Given the description of an element on the screen output the (x, y) to click on. 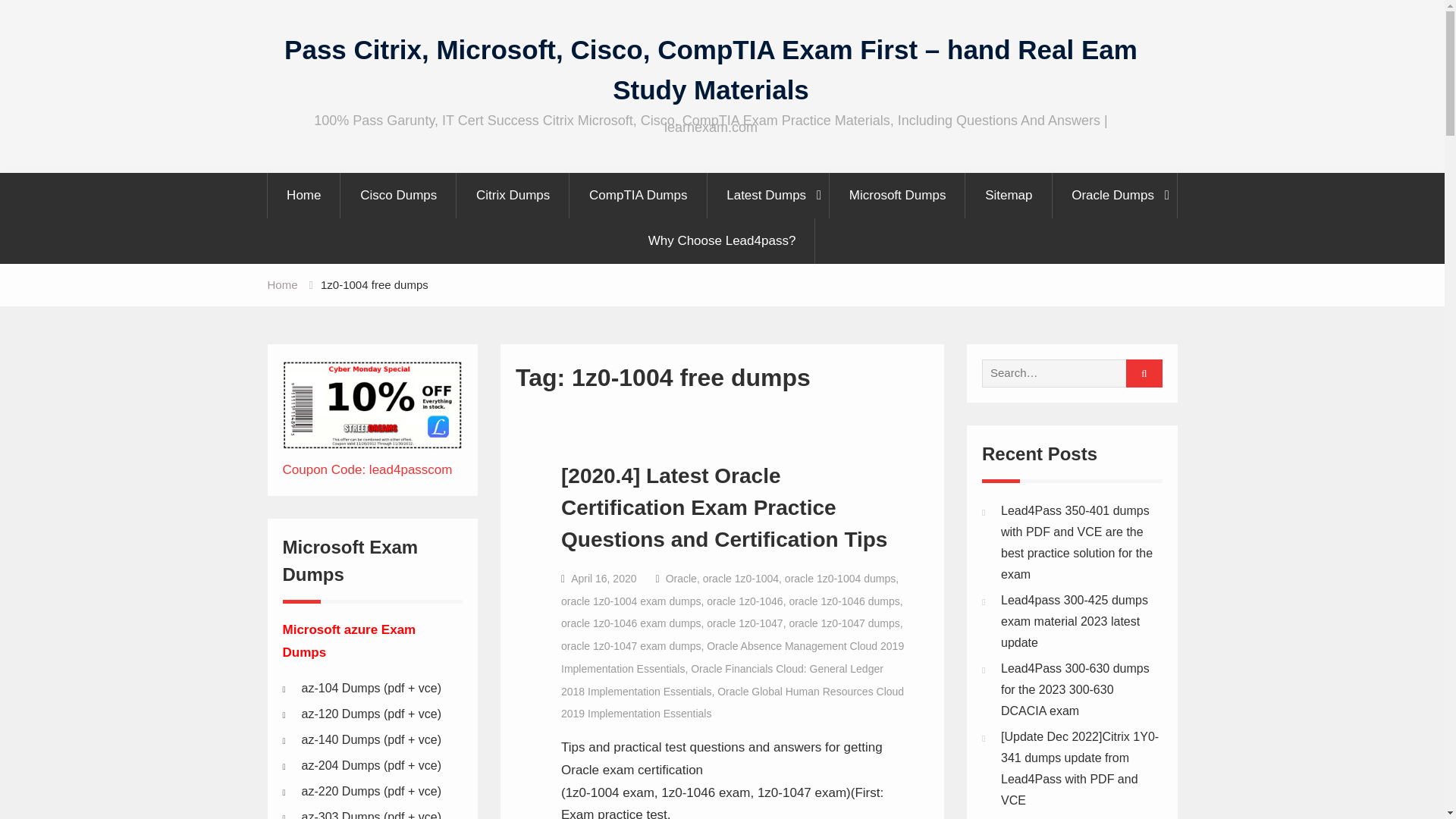
Cisco Dumps (398, 195)
CompTIA Dumps (638, 195)
Home (303, 195)
Citrix Dumps (513, 195)
Latest Dumps (768, 195)
Search for: (1067, 373)
